Given the description of an element on the screen output the (x, y) to click on. 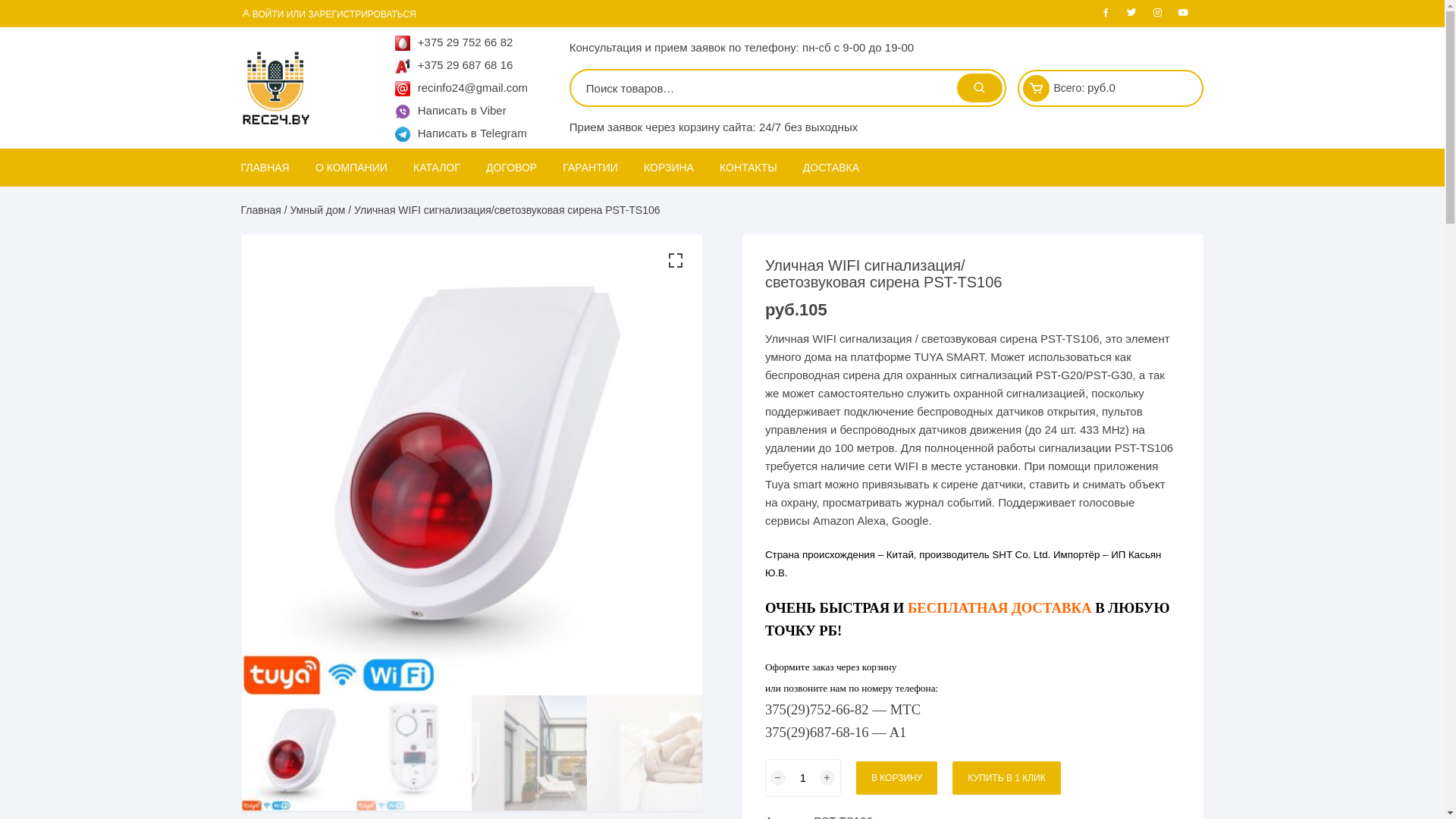
recinfo24@gmail.com Element type: text (461, 89)
PST-TS106 Element type: hover (471, 464)
+375 29 687 68 16 Element type: text (454, 66)
+375 29 752 66 82 Element type: text (454, 43)
